Given the description of an element on the screen output the (x, y) to click on. 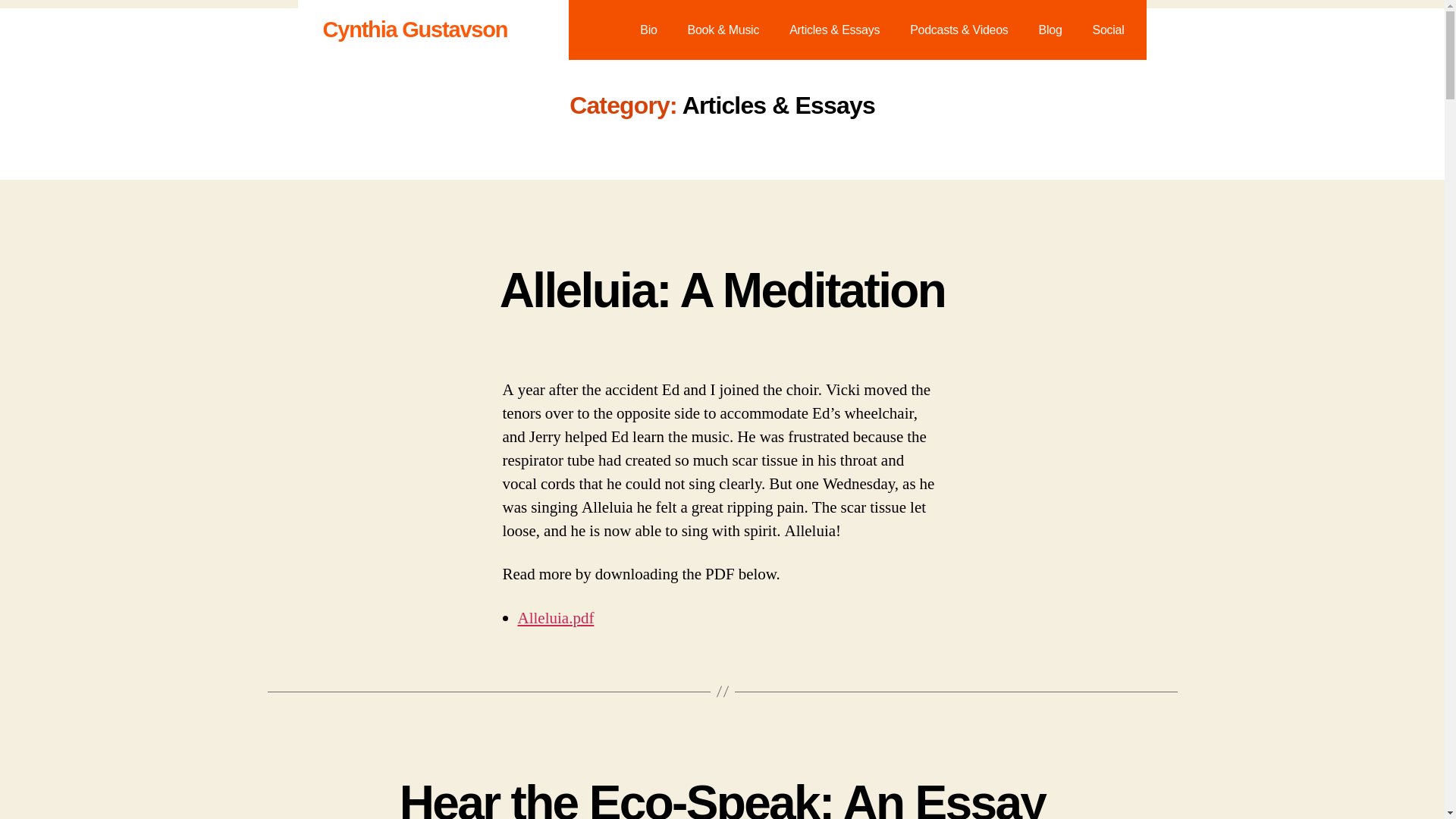
Blog (1050, 29)
Bio (647, 29)
Cynthia Gustavson (415, 29)
Alleluia: A Meditation (721, 289)
Social (1108, 29)
Hear the Eco-Speak: An Essay (721, 797)
Alleluia.pdf (555, 618)
